Given the description of an element on the screen output the (x, y) to click on. 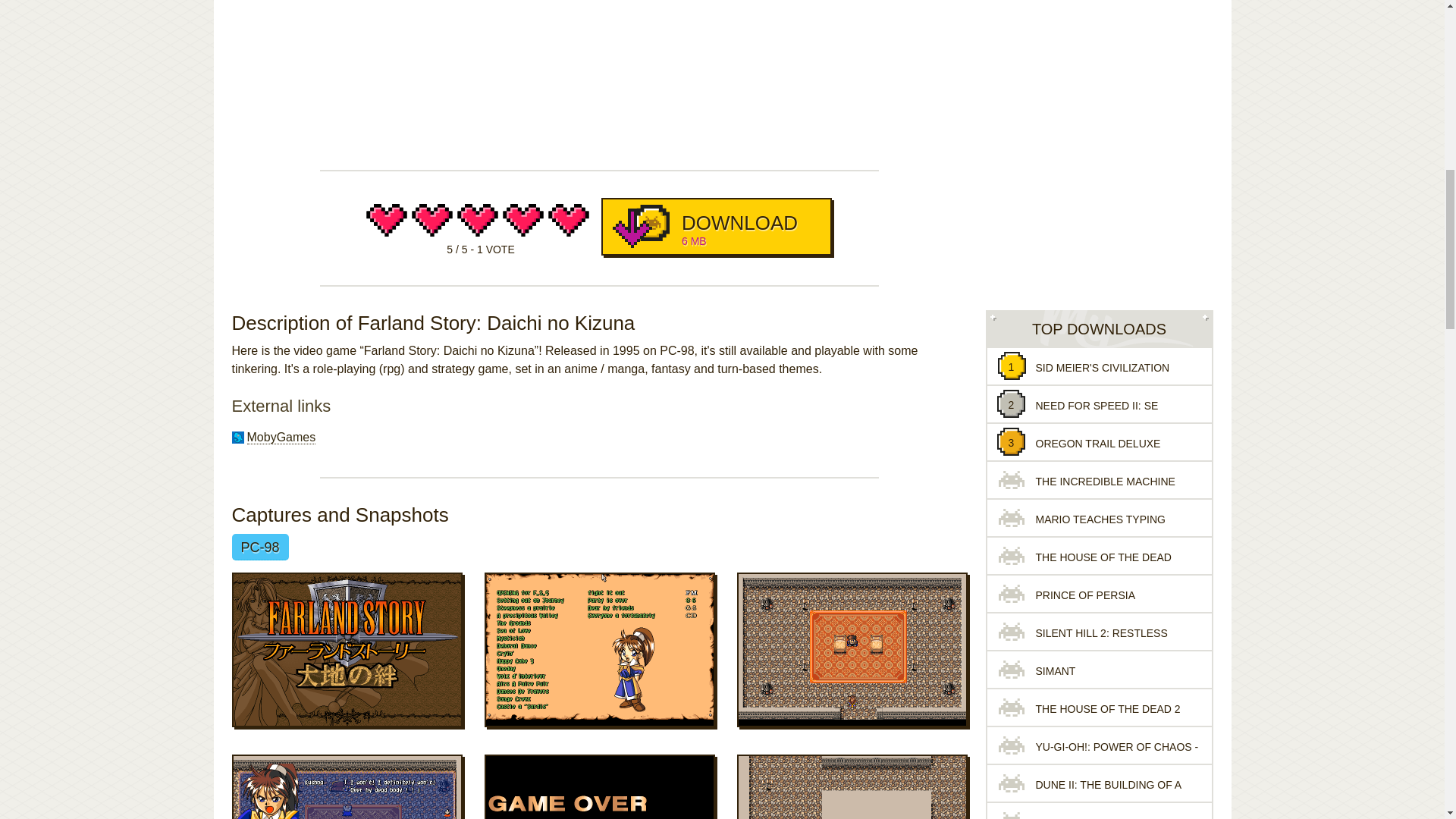
PC-98 (716, 226)
MobyGames (259, 546)
